Given the description of an element on the screen output the (x, y) to click on. 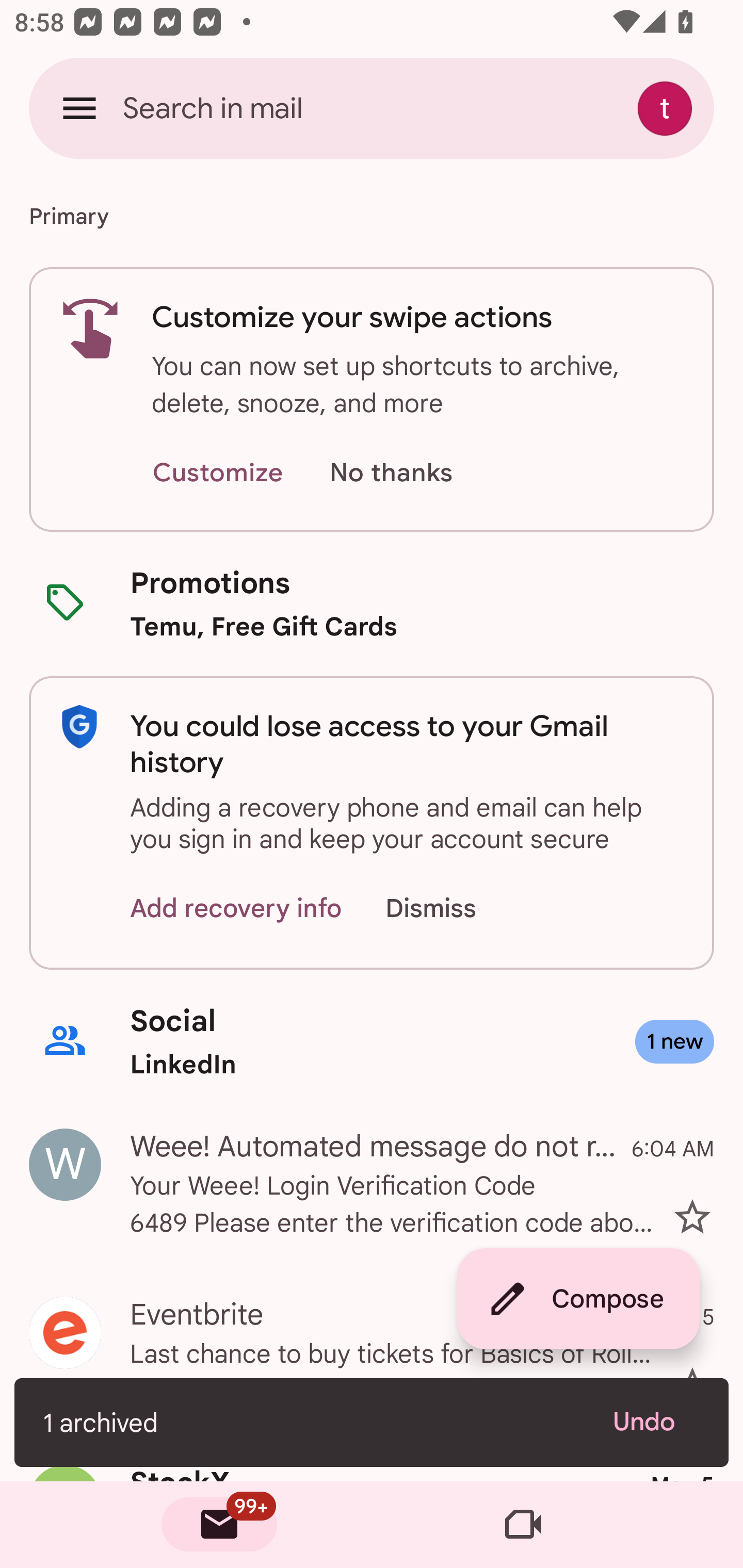
Open navigation drawer (79, 108)
Customize (217, 473)
No thanks (390, 473)
Promotions Temu, Free Gift Cards (371, 603)
Add recovery info (235, 908)
Dismiss (449, 908)
Social LinkedIn 1 new (371, 1041)
Compose (577, 1299)
Undo (655, 1422)
Meet (523, 1524)
